Given the description of an element on the screen output the (x, y) to click on. 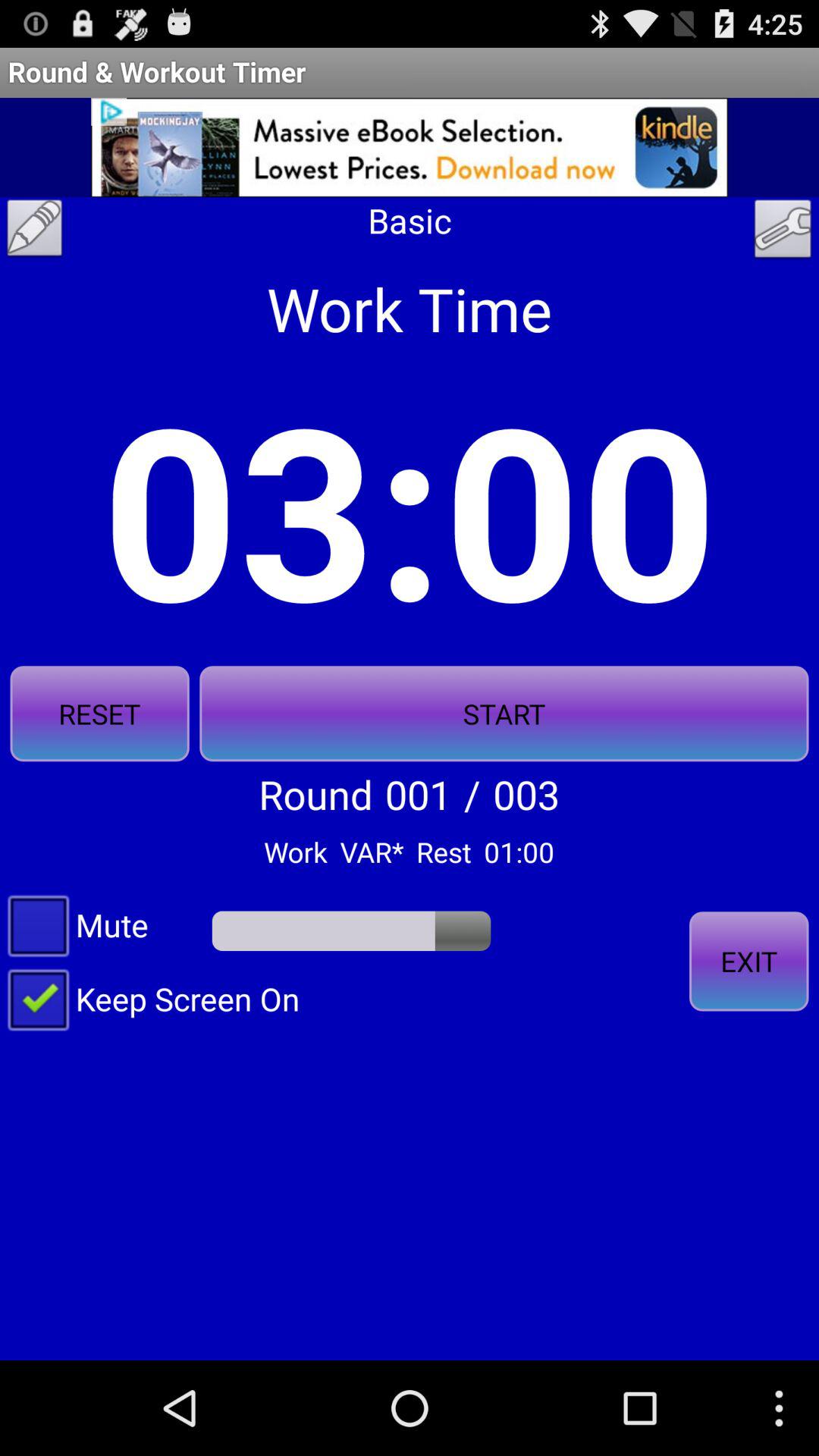
launch the item next to exit button (149, 998)
